Given the description of an element on the screen output the (x, y) to click on. 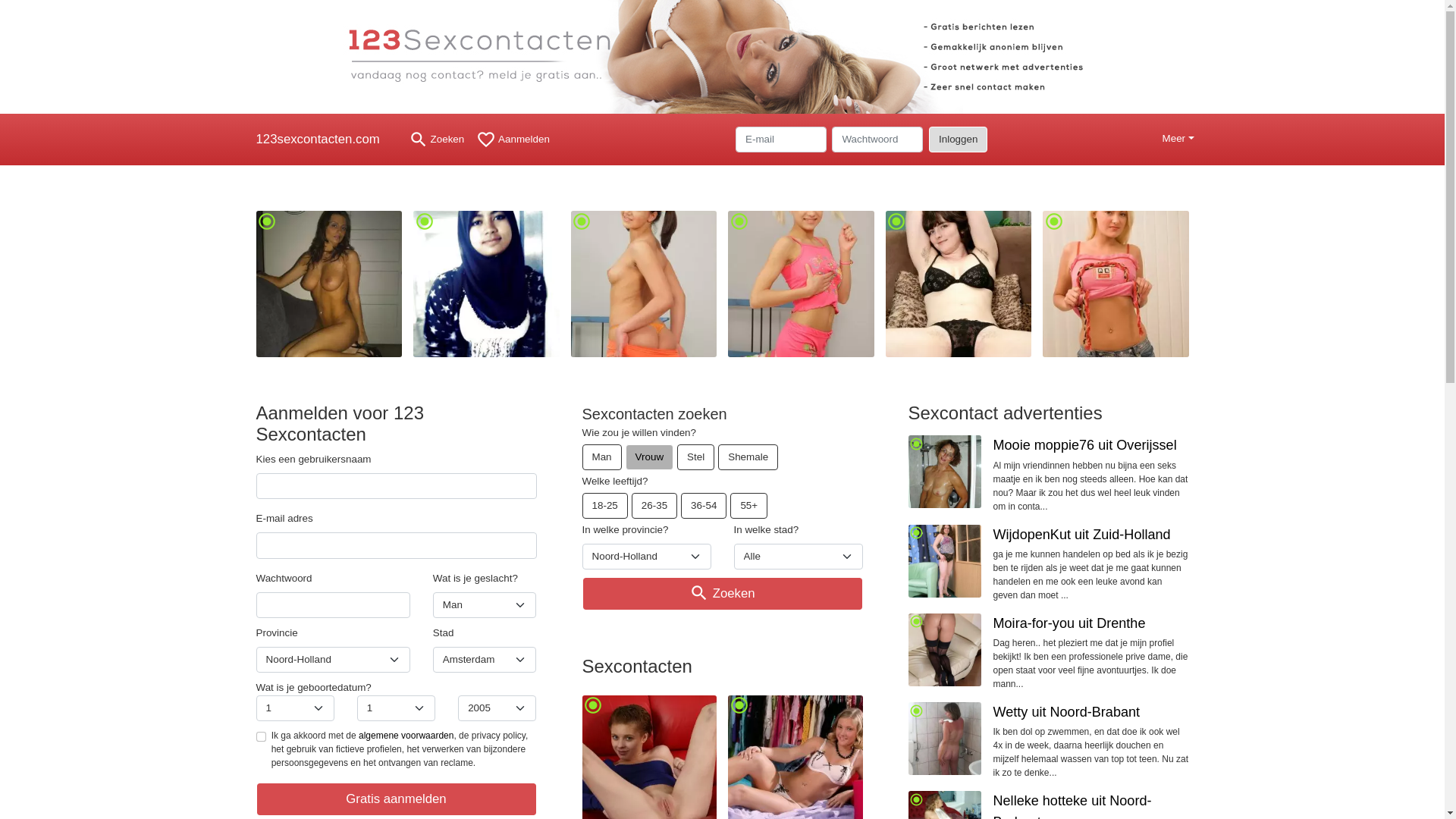
Inloggen Element type: text (957, 139)
radio_button_checked Element type: text (944, 649)
radio_button_checked Element type: text (486, 283)
Wetty uit Noord-Brabant Element type: text (1066, 711)
radio_button_checked Element type: text (944, 471)
radio_button_checked Element type: text (329, 283)
search
Zoeken Element type: text (436, 139)
123sexcontacten.com Element type: text (322, 139)
search Zoeken Element type: text (722, 593)
favorite_border
Aanmelden Element type: text (512, 139)
radio_button_checked Element type: text (958, 283)
radio_button_checked Element type: text (944, 738)
radio_button_checked Element type: text (643, 283)
radio_button_checked Element type: text (801, 283)
WijdopenKut uit Zuid-Holland Element type: text (1081, 534)
radio_button_checked Element type: text (1115, 283)
Mooie moppie76 uit Overijssel Element type: text (1084, 444)
radio_button_checked Element type: text (944, 560)
Moira-for-you uit Drenthe Element type: text (1069, 622)
algemene voorwaarden Element type: text (405, 735)
Gratis aanmelden Element type: text (396, 798)
Meer Element type: text (1178, 139)
